Given the description of an element on the screen output the (x, y) to click on. 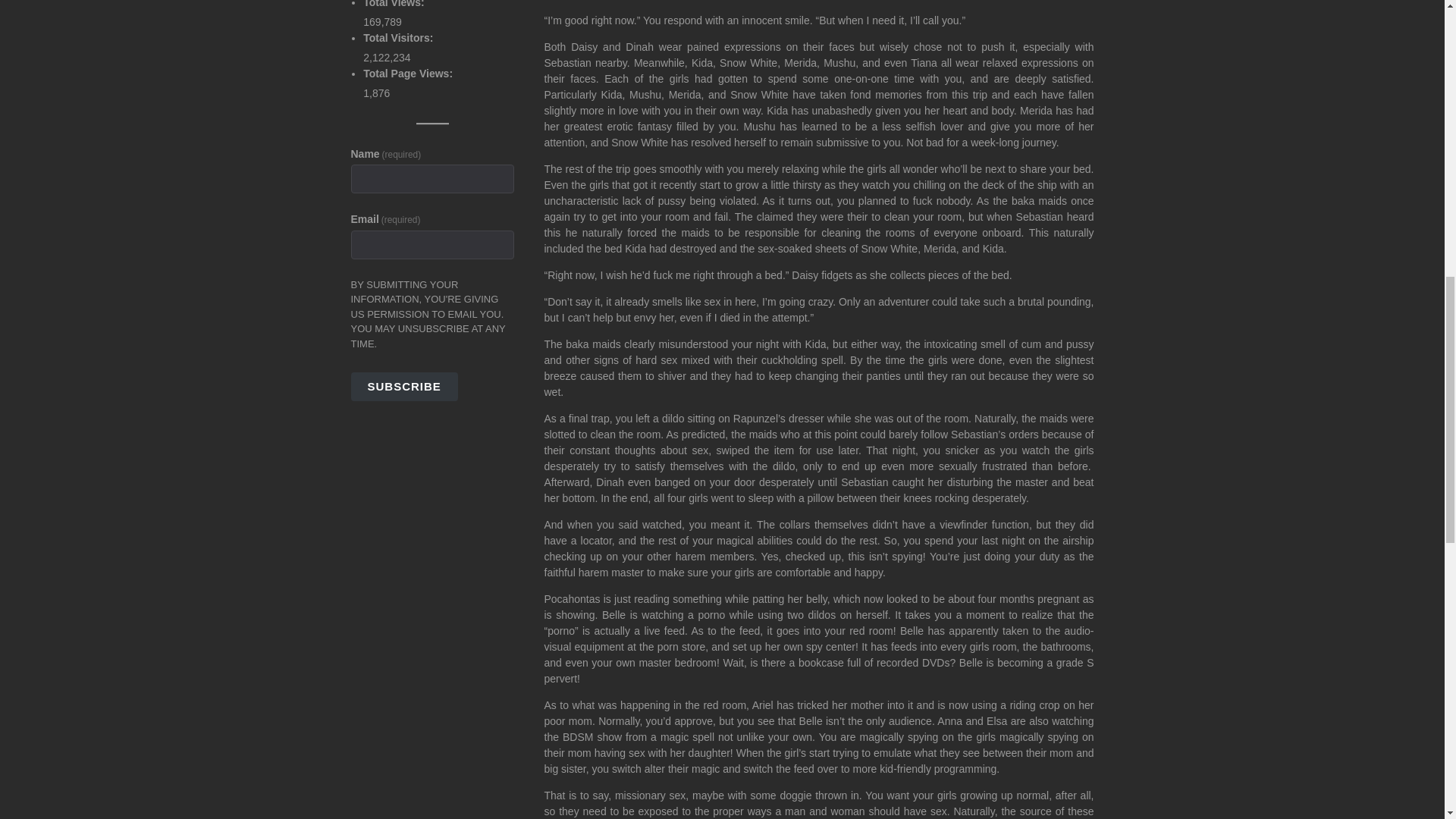
SUBSCRIBE (403, 386)
